Given the description of an element on the screen output the (x, y) to click on. 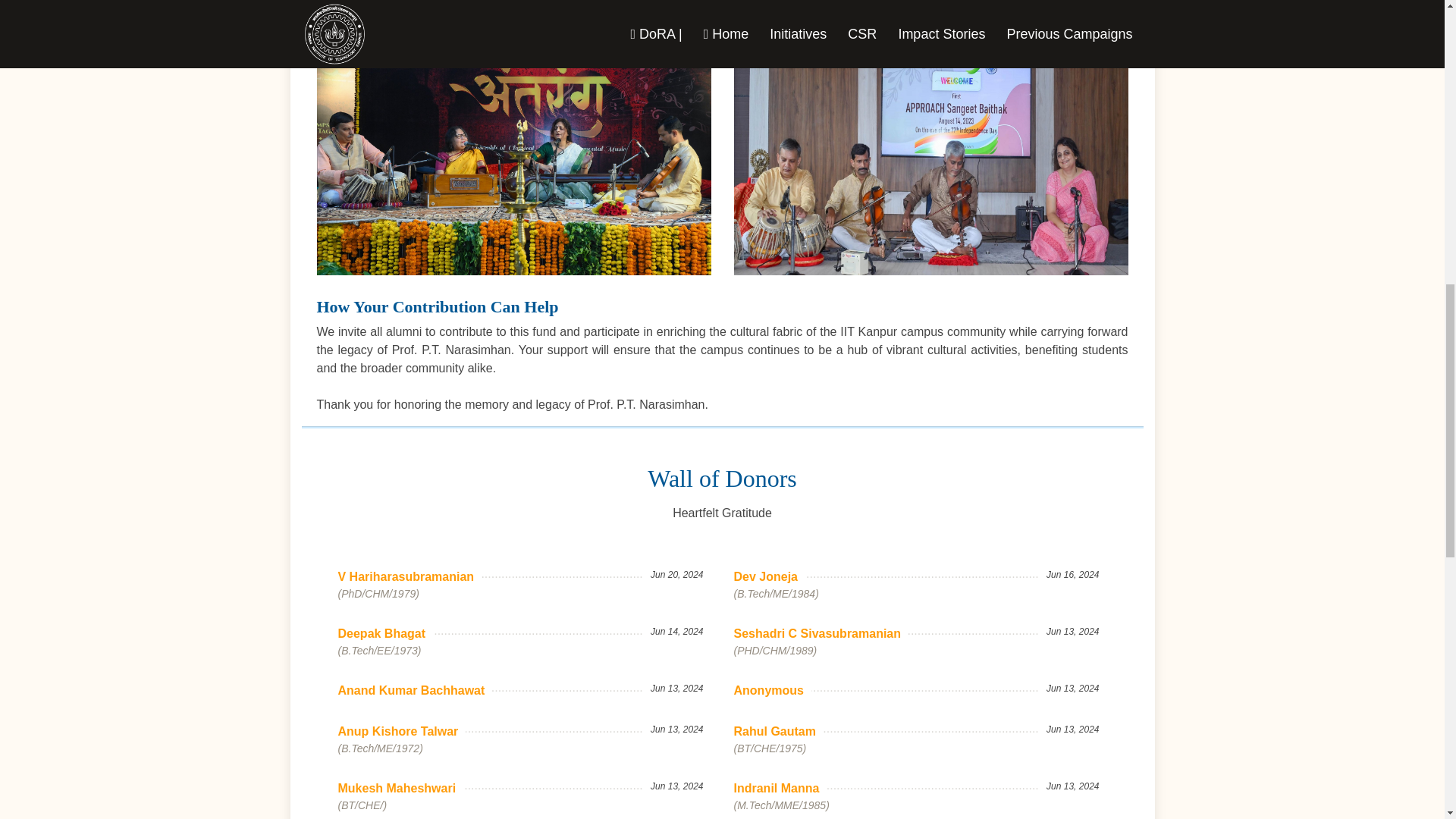
Anand Kumar Bachhawat (415, 690)
Anonymous (771, 690)
Seshadri C Sivasubramanian (820, 633)
Mukesh Maheshwari (400, 788)
Rahul Gautam (778, 731)
V Hariharasubramanian (409, 577)
Anup Kishore Talwar (401, 731)
Dev Joneja (769, 577)
Deepak Bhagat (385, 633)
Indranil Manna (780, 788)
